Given the description of an element on the screen output the (x, y) to click on. 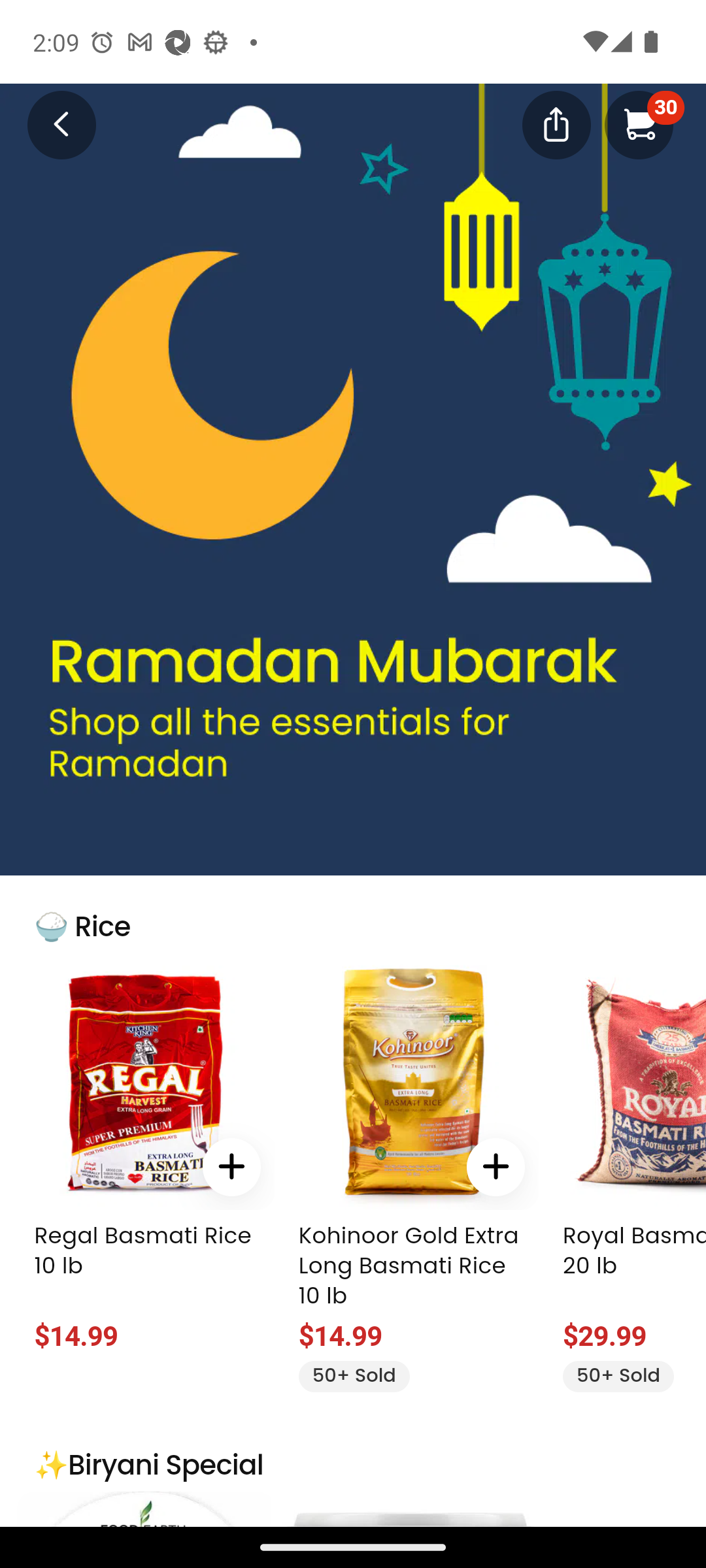
Weee! - Groceries Delivered (50, 123)
30 My cart (638, 124)
 (555, 123)
